Given the description of an element on the screen output the (x, y) to click on. 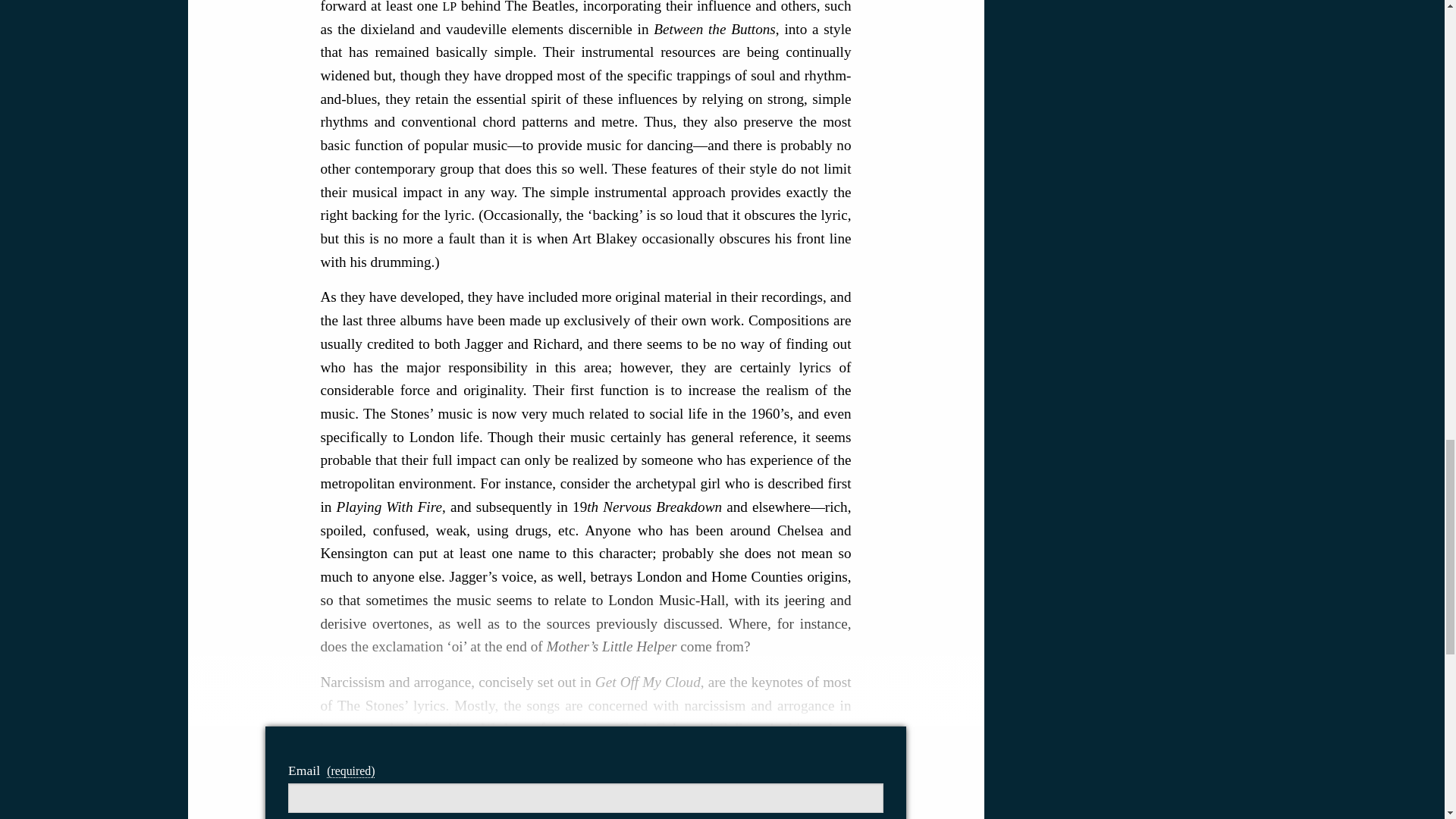
you must complete this field (350, 771)
